Given the description of an element on the screen output the (x, y) to click on. 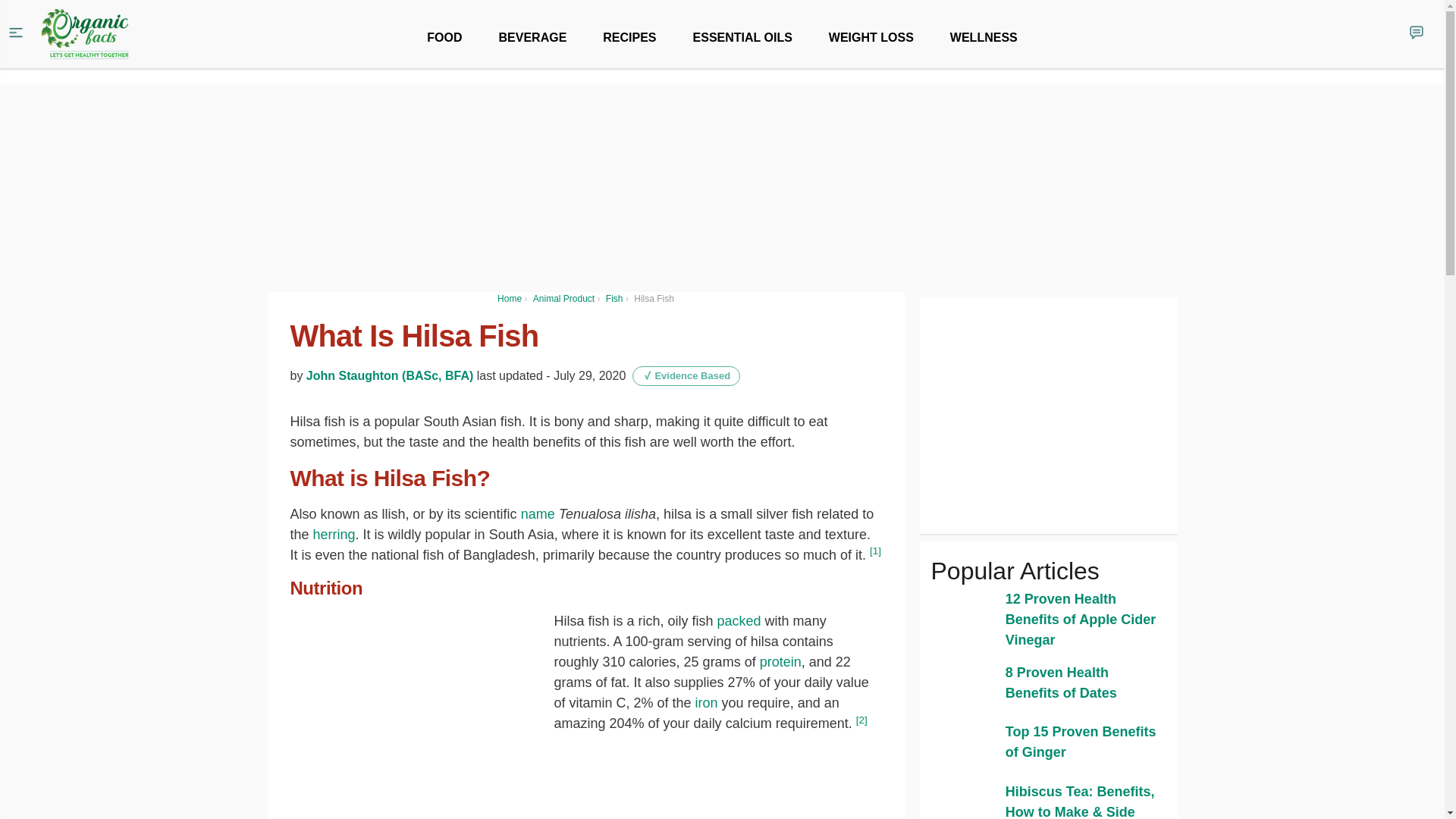
Organic Facts (85, 34)
